Given the description of an element on the screen output the (x, y) to click on. 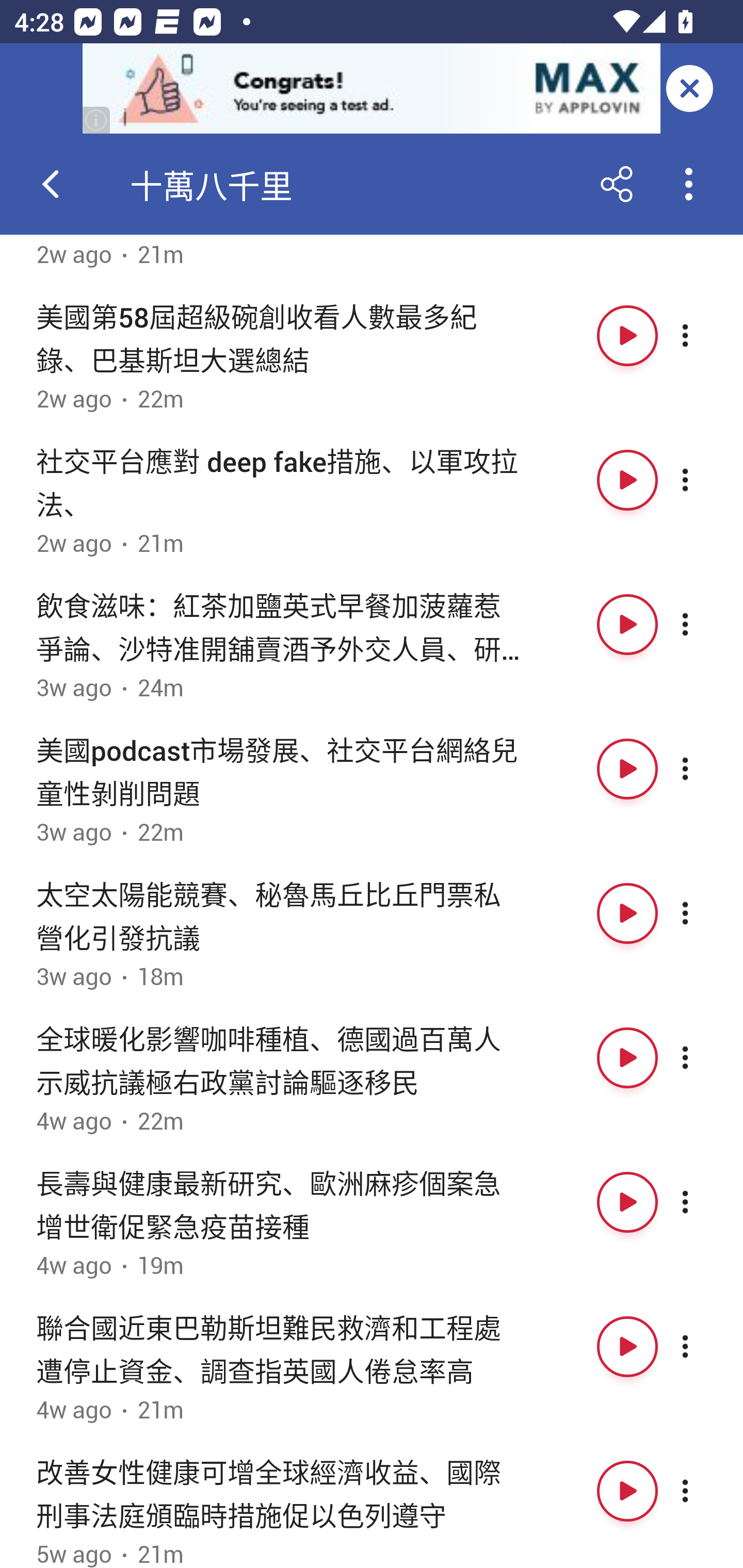
app-monetization (371, 88)
(i) (96, 119)
Back (50, 184)
Play button (627, 335)
More options (703, 335)
Play button (627, 480)
More options (703, 480)
Play button (627, 624)
More options (703, 624)
Play button (627, 769)
More options (703, 769)
Play button (627, 913)
More options (703, 913)
Play button (627, 1057)
More options (703, 1057)
Play button (627, 1201)
More options (703, 1201)
Play button (627, 1346)
More options (703, 1346)
Play button (627, 1490)
More options (703, 1490)
